Given the description of an element on the screen output the (x, y) to click on. 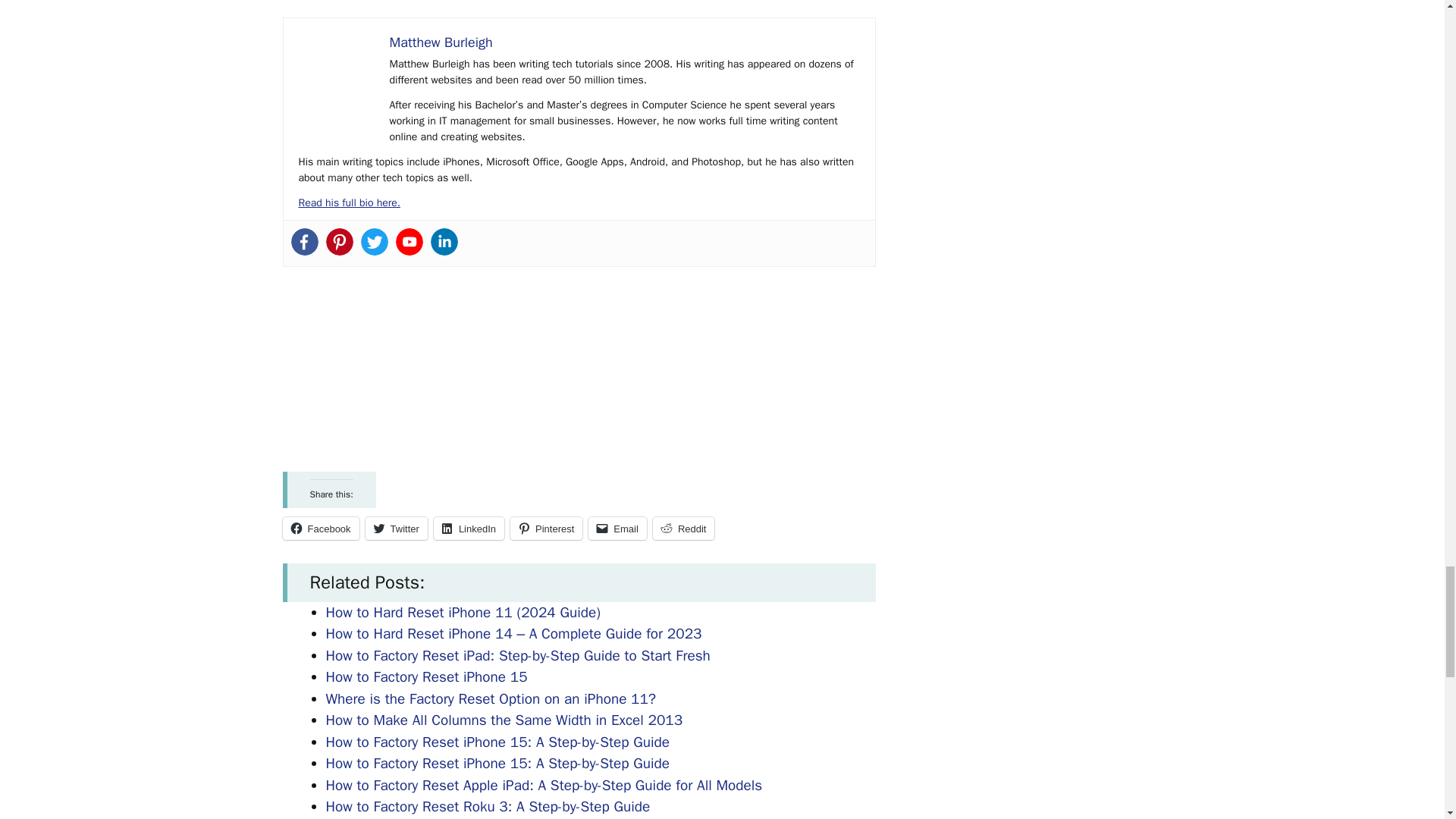
Click to share on Twitter (396, 527)
LinkedIn (468, 527)
How to Factory Reset iPhone 12: A Step-by-Step Guide 1 (336, 70)
Click to email a link to a friend (617, 527)
Linkedin (444, 241)
Twitter (374, 241)
Where is the Factory Reset Option on an iPhone 11? (491, 699)
How to Factory Reset Roku 3: A Step-by-Step Guide (488, 806)
Pinterest (339, 241)
How to Factory Reset iPhone 15: A Step-by-Step Guide (497, 763)
